Given the description of an element on the screen output the (x, y) to click on. 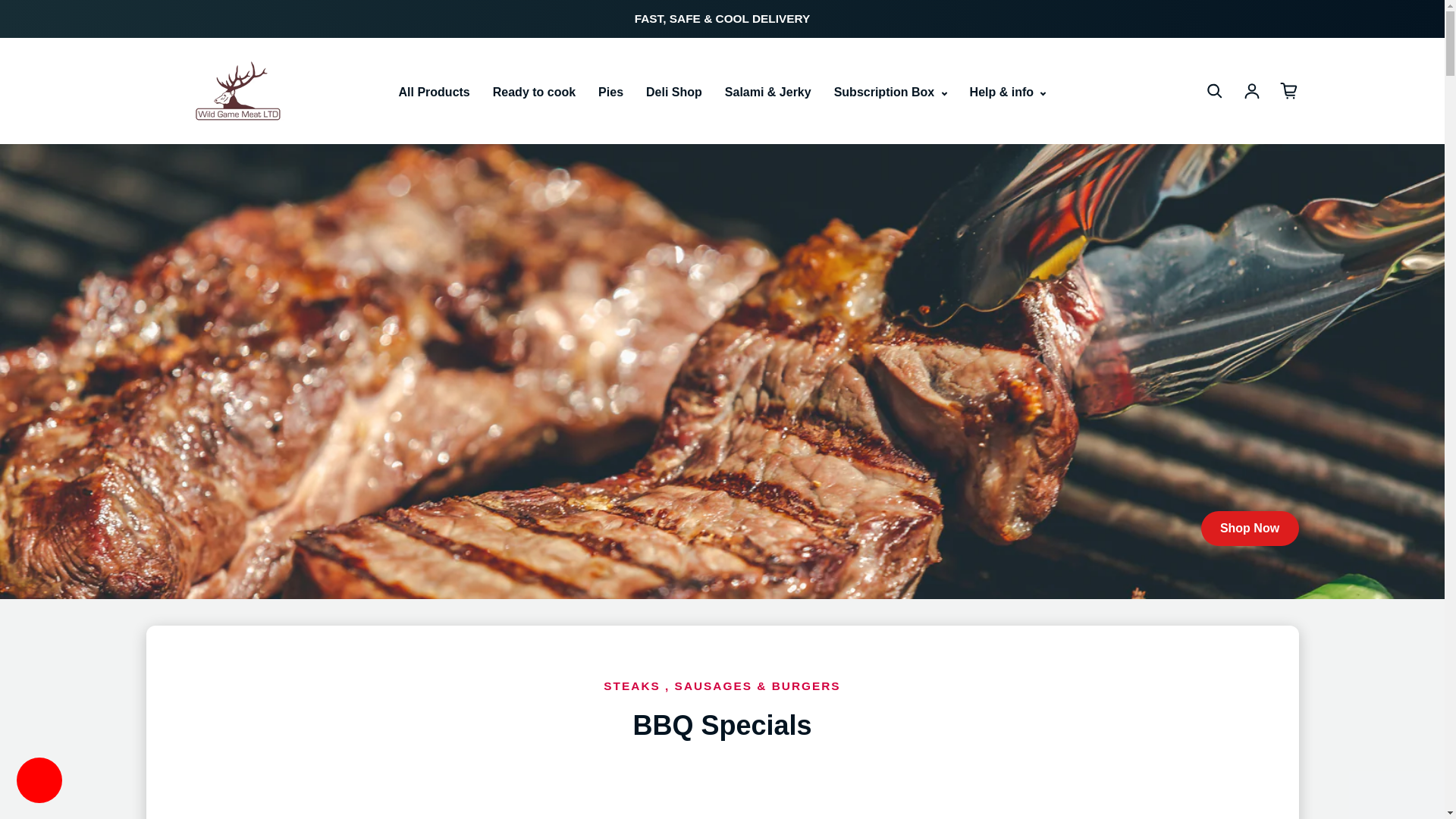
Subscription Box (890, 93)
Shopify online store chat (38, 781)
Pies (610, 93)
Ready to cook (534, 93)
Log in (1251, 90)
All Products (434, 93)
Shop Now (1249, 528)
Deli Shop (673, 93)
